Given the description of an element on the screen output the (x, y) to click on. 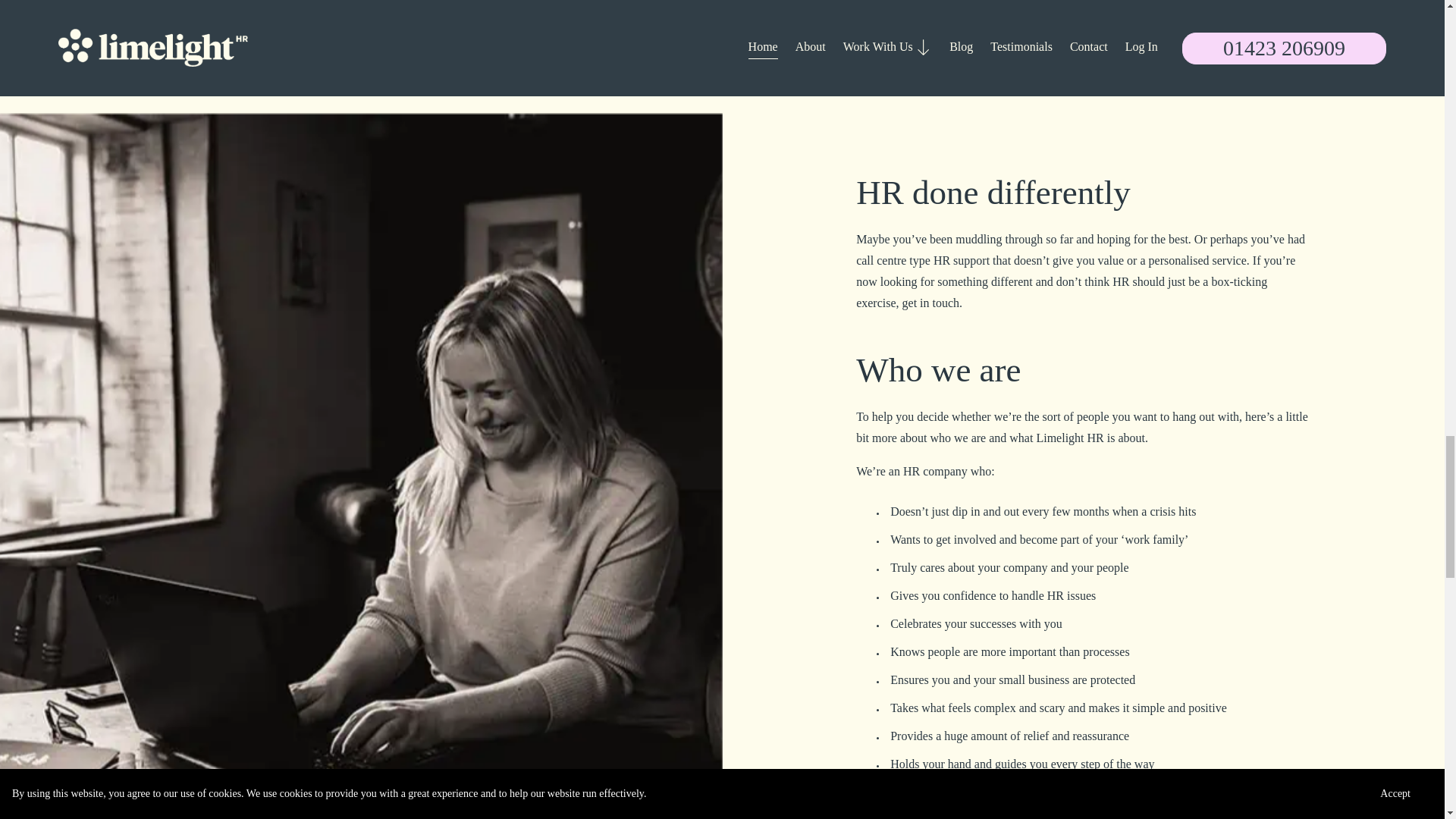
Get in touch (949, 6)
